Given the description of an element on the screen output the (x, y) to click on. 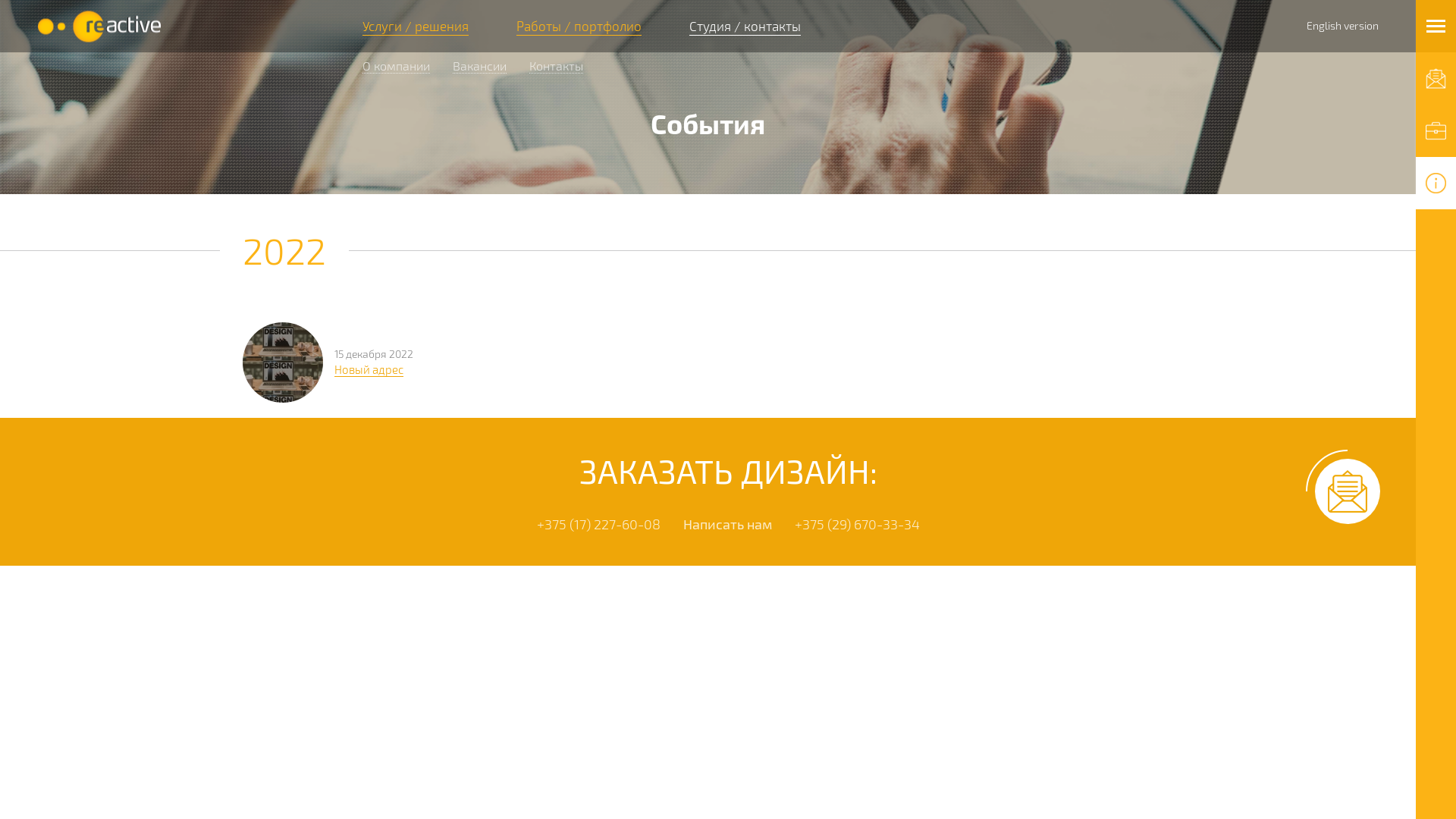
+375 (17) 227-60-08 Element type: text (598, 523)
+375 (29) 670-33-34 Element type: text (856, 523)
2022 Element type: text (284, 250)
